Given the description of an element on the screen output the (x, y) to click on. 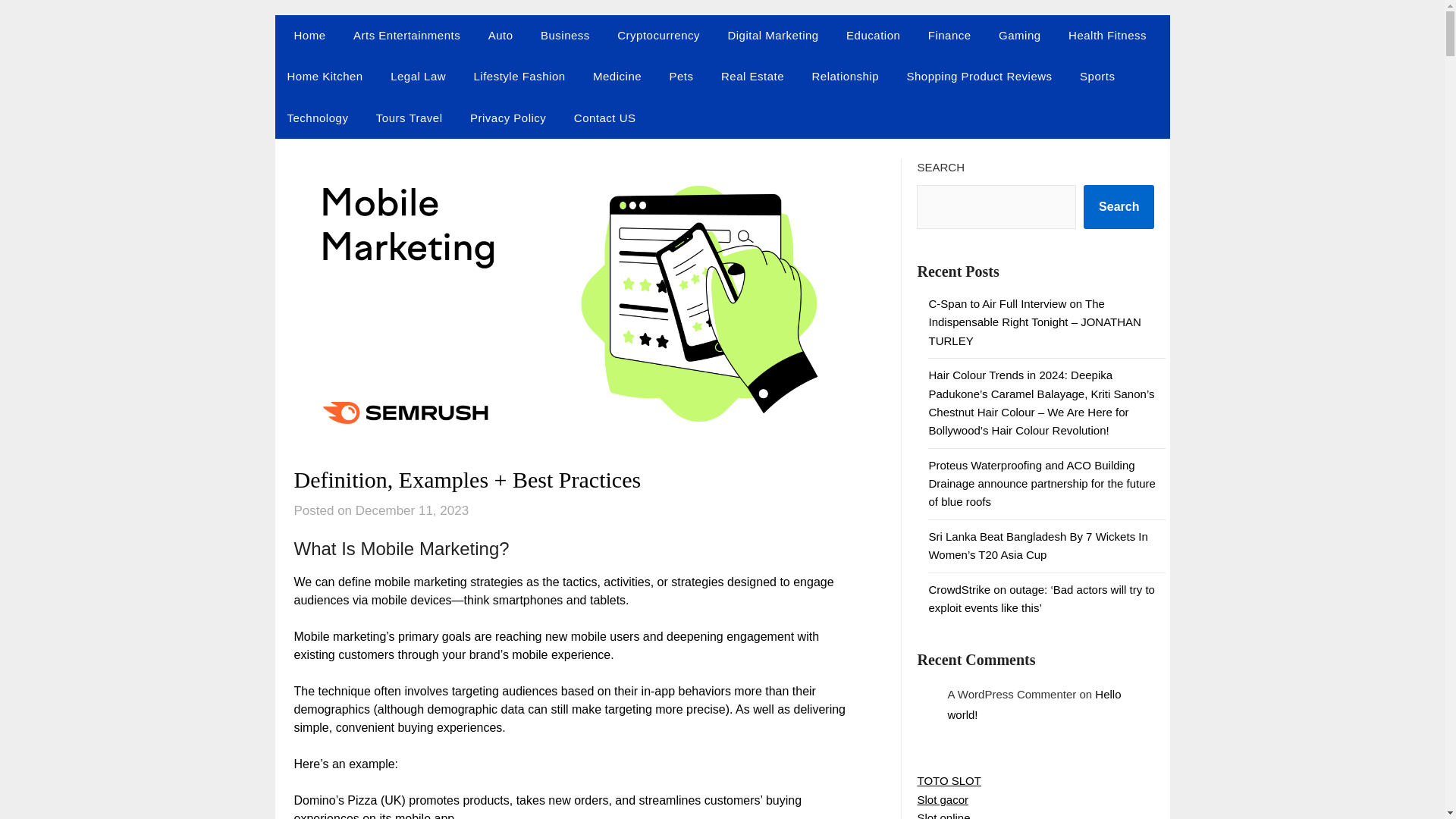
Relationship (845, 76)
Pets (682, 76)
Technology (317, 117)
Arts Entertainments (405, 35)
Medicine (616, 76)
Finance (949, 35)
Legal Law (418, 76)
Home Kitchen (324, 76)
Sports (1096, 76)
Auto (500, 35)
Gaming (1019, 35)
Privacy Policy (507, 117)
Shopping Product Reviews (979, 76)
Real Estate (752, 76)
Education (873, 35)
